Given the description of an element on the screen output the (x, y) to click on. 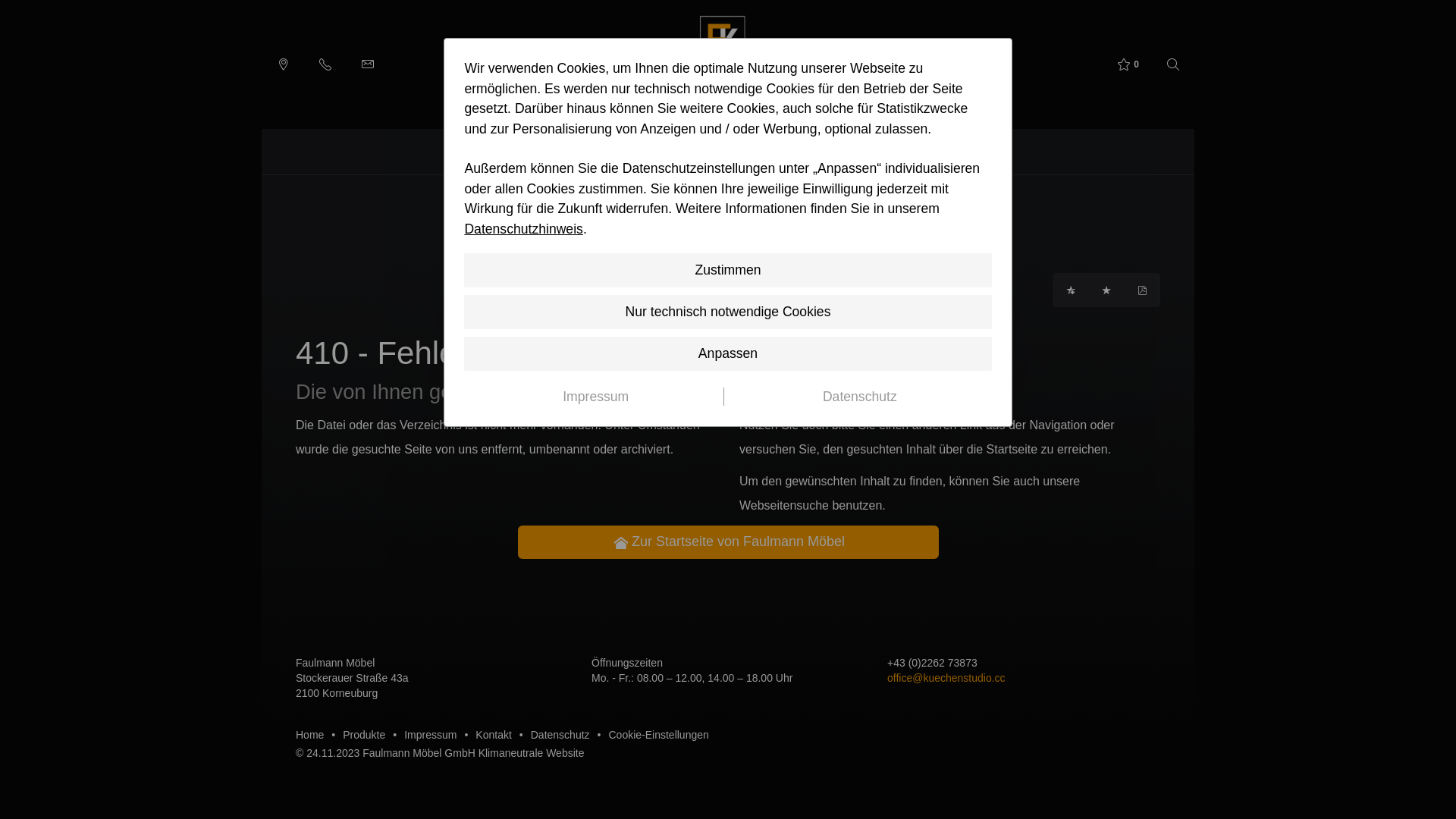
Impressum Element type: text (430, 734)
Datenschutz Element type: text (559, 734)
Telefon Element type: hover (325, 64)
office@kuechenstudio.cc Element type: text (946, 677)
Klimaneutrale Website Element type: text (531, 752)
Datenschutzhinweis Element type: text (523, 228)
Zur Startseite Element type: hover (721, 64)
Kontakt Element type: text (493, 734)
Merkliste ansehen Element type: text (1106, 290)
Kontakt Element type: text (940, 151)
Datenschutz Element type: text (859, 396)
Unternehmen Element type: text (529, 151)
Produkte Element type: text (871, 151)
Markenwelt Element type: text (695, 231)
Cookie-Einstellungen Element type: text (658, 734)
Produkte Element type: text (363, 734)
bitteAnpassen Element type: hover (282, 64)
PDF-erstellen Element type: text (1141, 290)
E-Mail Element type: hover (367, 64)
Nur technisch notwendige Cookies Element type: text (727, 311)
Impressum Element type: text (595, 396)
Leistungen Element type: text (632, 151)
Startseite Element type: text (618, 231)
Zustimmen Element type: text (727, 270)
Markenwelt Element type: text (716, 151)
Home Element type: text (309, 734)
Suchen Element type: hover (1172, 64)
0 Element type: text (1126, 64)
Anpassen Element type: text (727, 353)
